Given the description of an element on the screen output the (x, y) to click on. 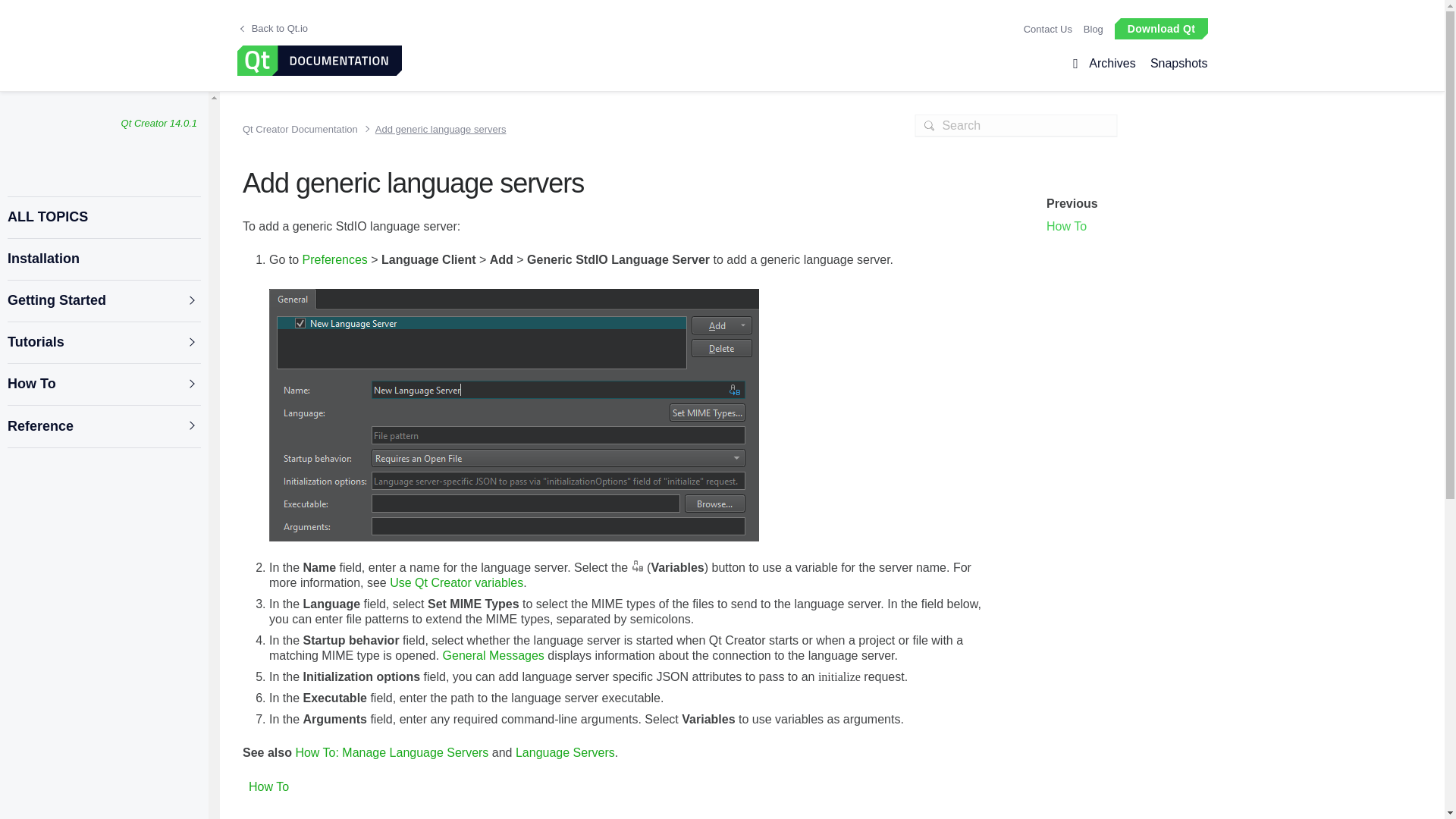
Qt Creator 14.0.1 (158, 122)
Download Qt (1160, 27)
Tutorials (103, 342)
Contact Us (1047, 28)
ALL TOPICS (103, 217)
Blog (1093, 28)
Snapshots (1174, 63)
Back to Qt.io (273, 28)
Getting Started (103, 300)
How To (103, 384)
